Given the description of an element on the screen output the (x, y) to click on. 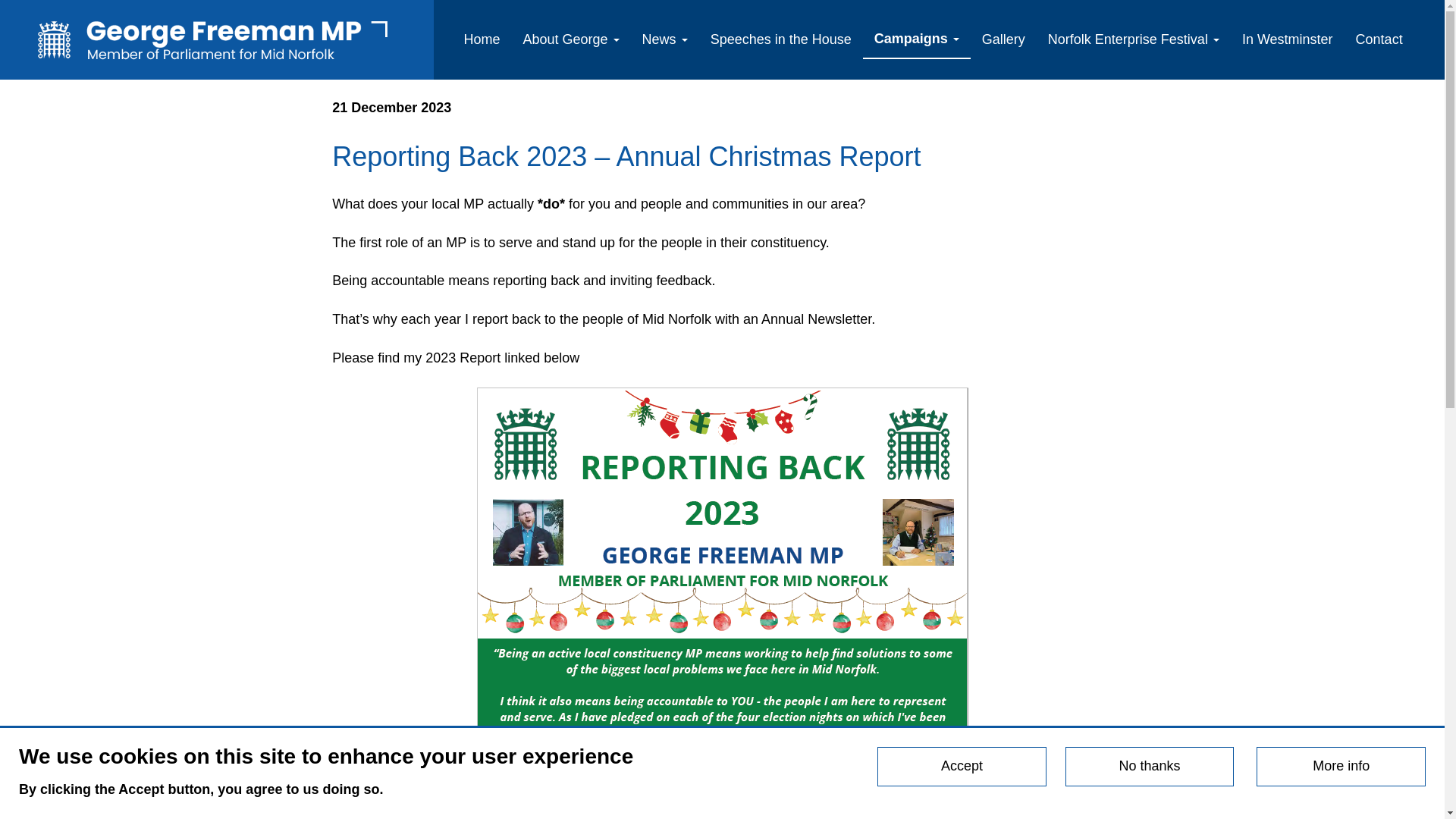
Home (216, 39)
About George (571, 39)
Home (481, 39)
Speeches in the House (780, 39)
Campaigns (917, 38)
News (664, 39)
